Given the description of an element on the screen output the (x, y) to click on. 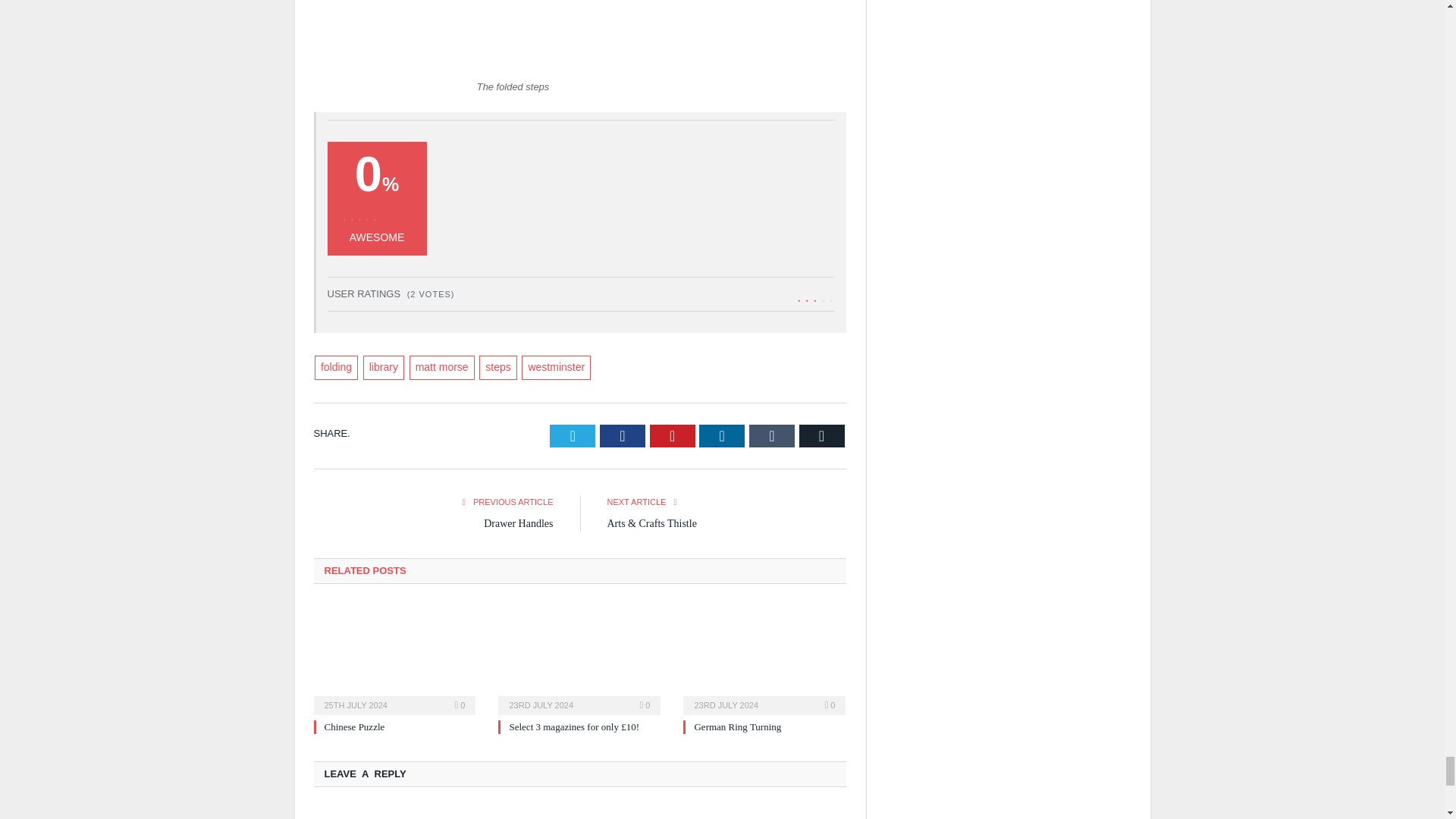
Pinterest (672, 436)
library (383, 367)
steps (497, 367)
Share on LinkedIn (721, 436)
Share via Email (821, 436)
Chinese Puzzle (354, 726)
Twitter (572, 436)
Facebook (622, 436)
matt morse (441, 367)
Tweet It (572, 436)
Chinese Puzzle (395, 658)
Share on Pinterest (672, 436)
westminster (556, 367)
Share on Tumblr (771, 436)
folding (336, 367)
